Given the description of an element on the screen output the (x, y) to click on. 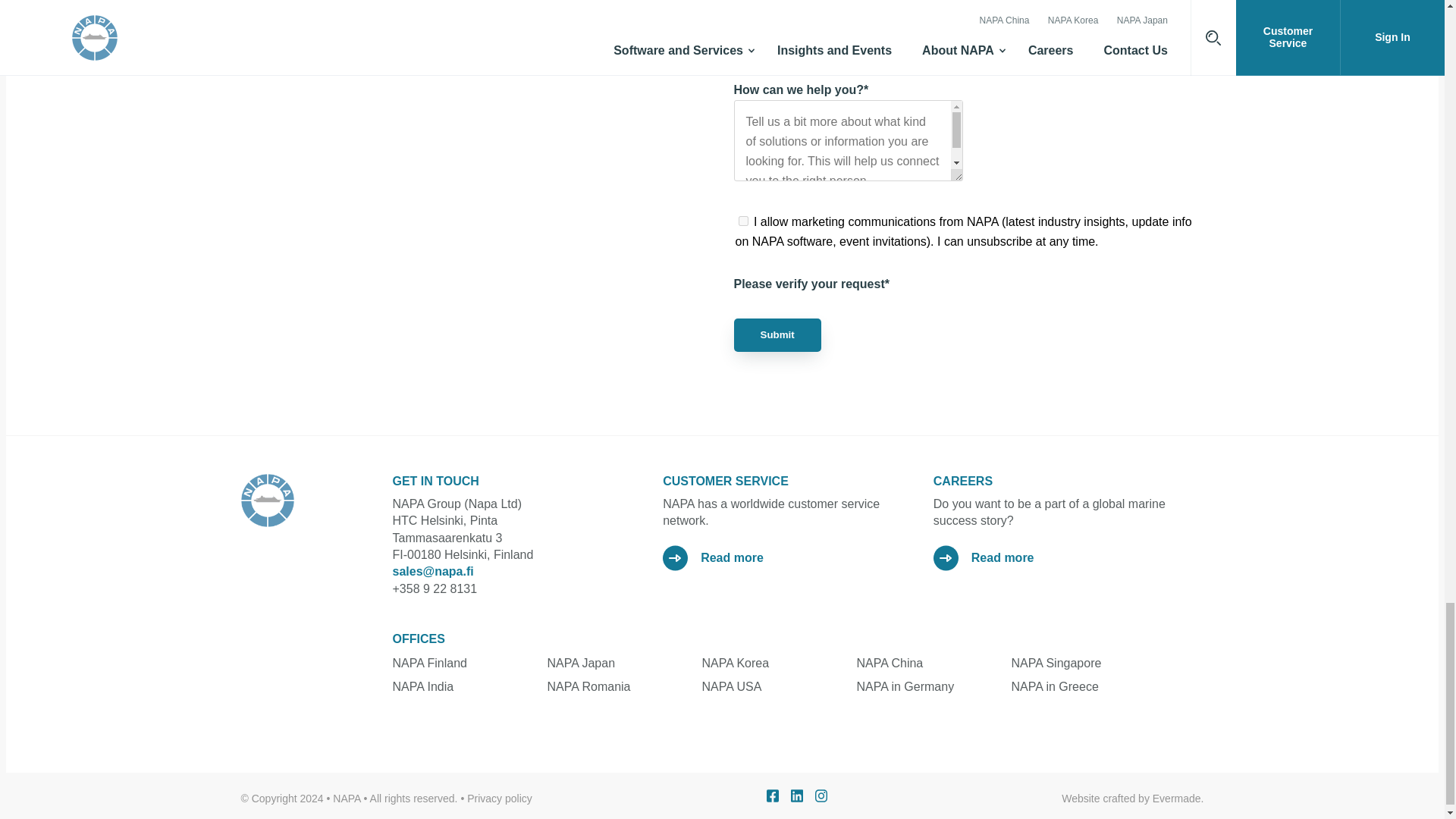
NAPA (273, 500)
